Given the description of an element on the screen output the (x, y) to click on. 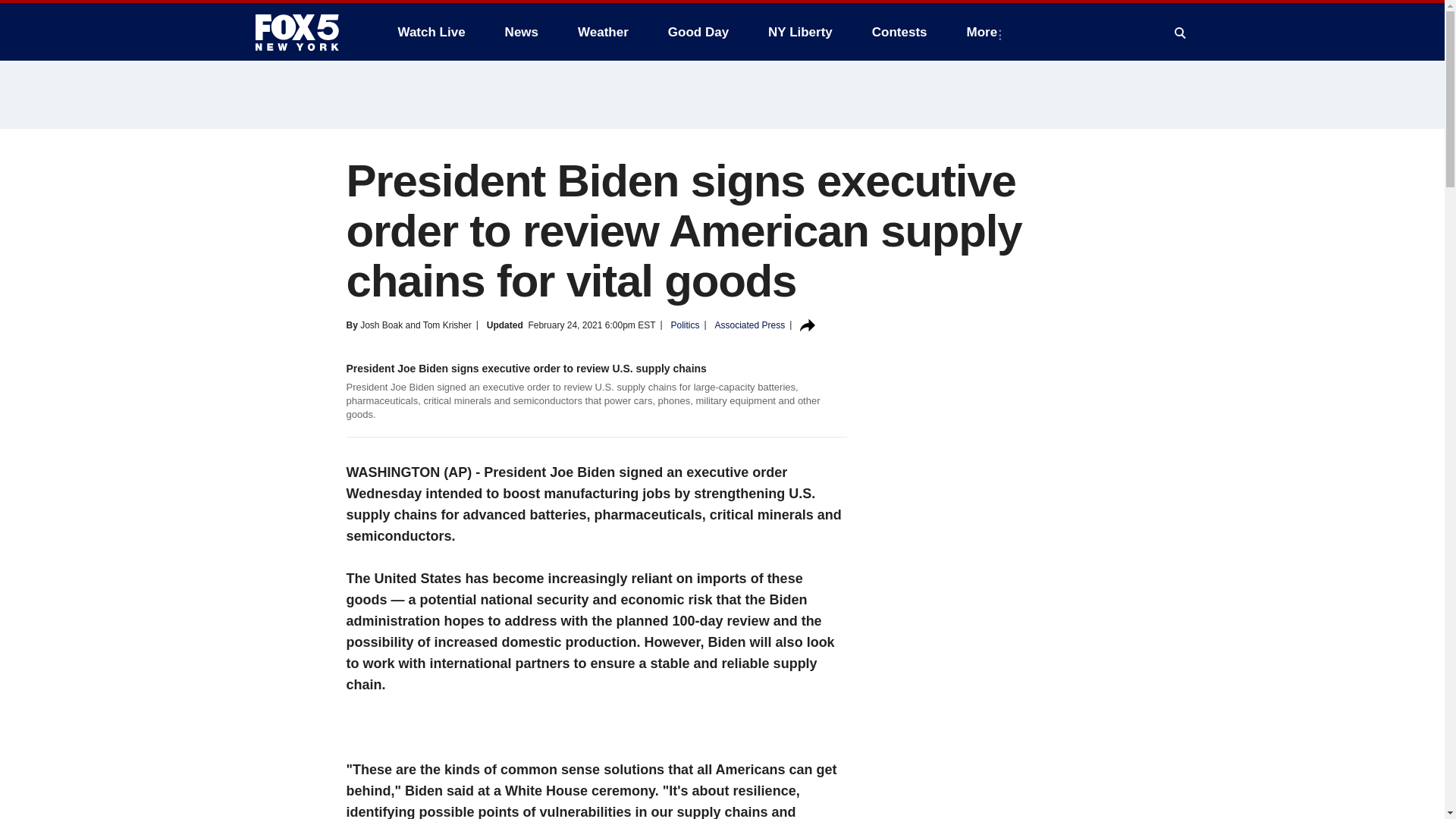
News (521, 32)
Weather (603, 32)
Watch Live (431, 32)
More (985, 32)
NY Liberty (799, 32)
Good Day (698, 32)
Contests (899, 32)
